Given the description of an element on the screen output the (x, y) to click on. 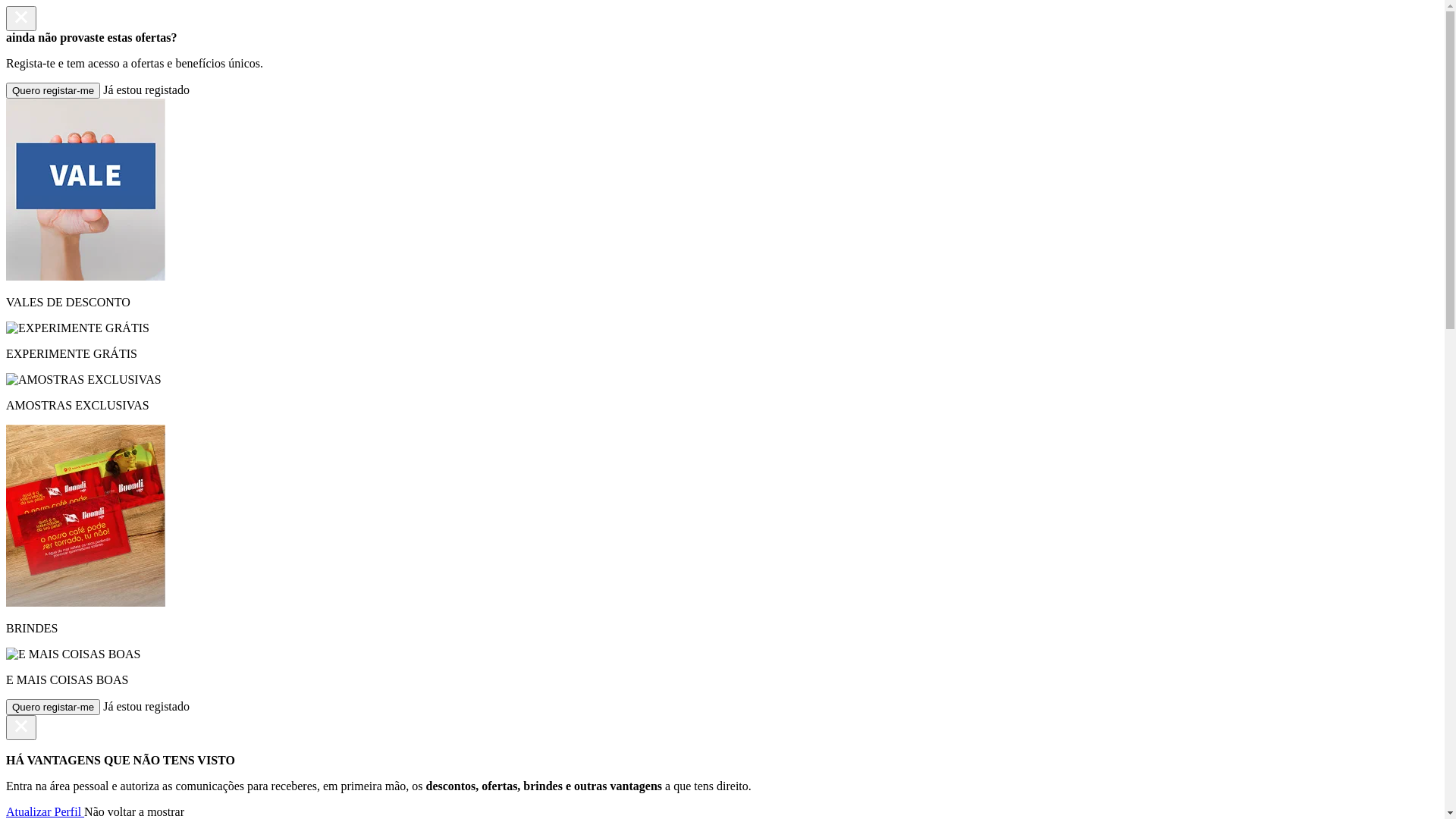
Quero registar-me Element type: text (53, 90)
Atualizar Perfil Element type: text (45, 811)
Quero registar-me Element type: text (53, 707)
